Given the description of an element on the screen output the (x, y) to click on. 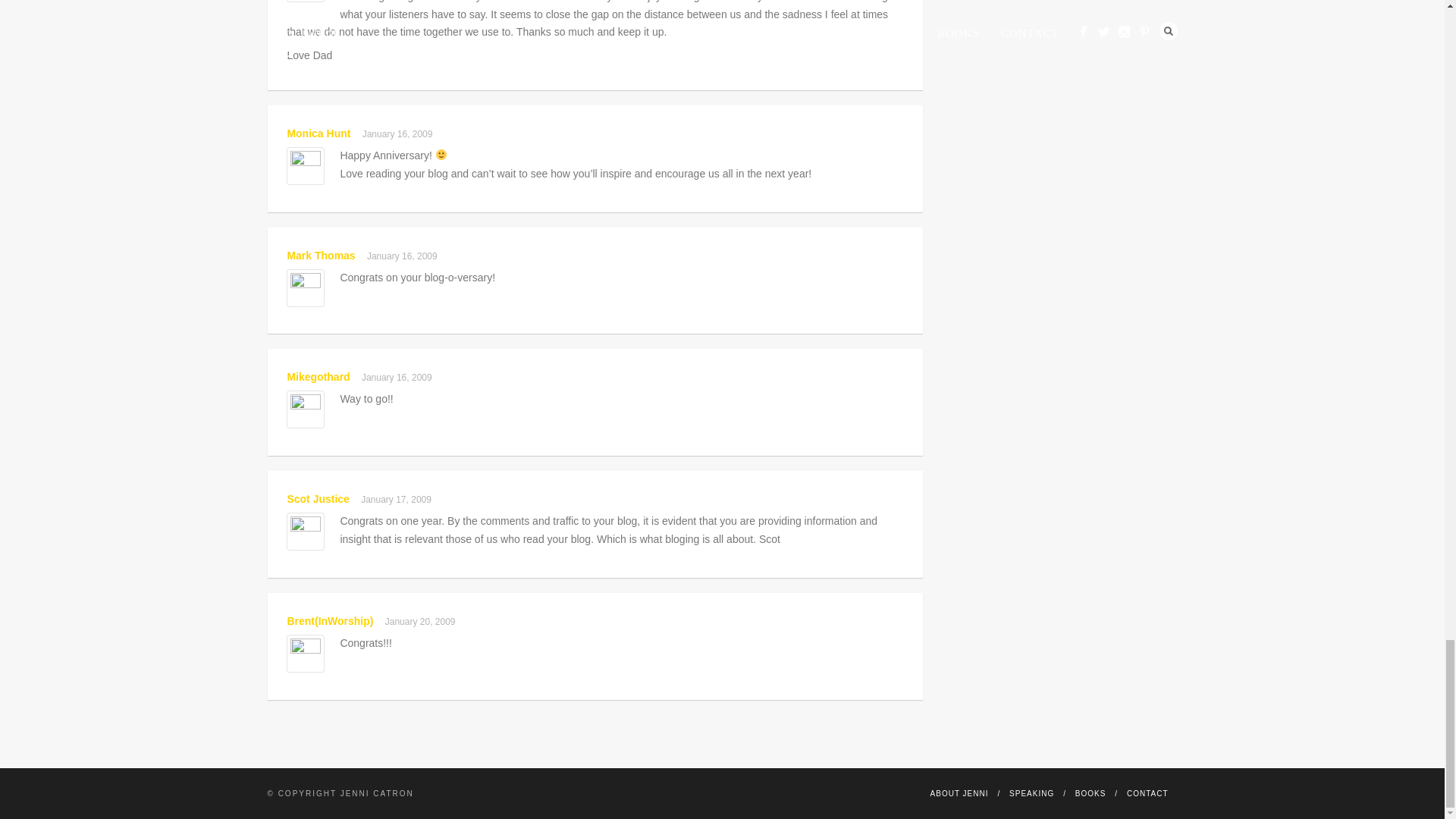
Mark Thomas (320, 255)
Scot Justice (317, 499)
